Given the description of an element on the screen output the (x, y) to click on. 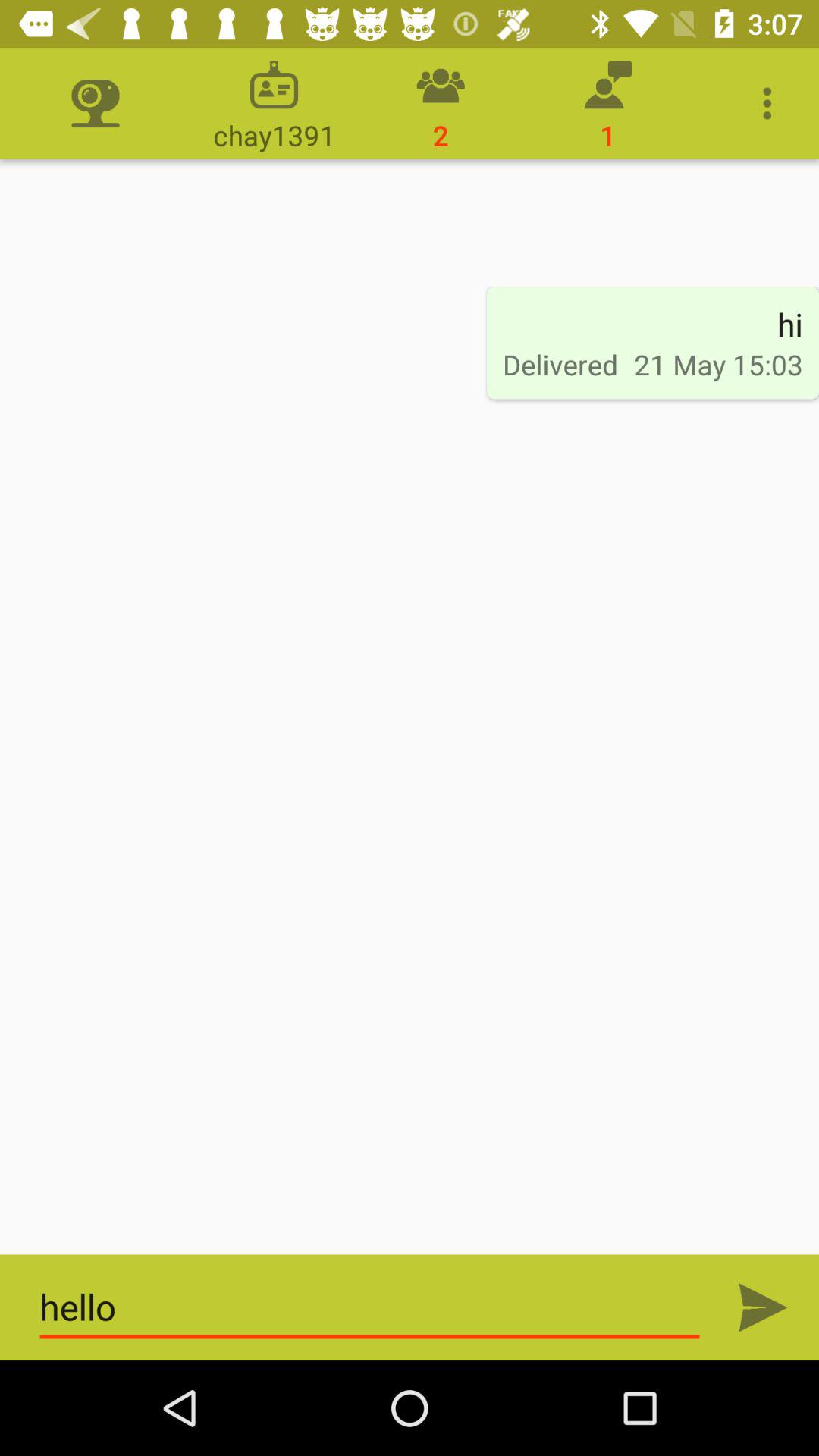
send (763, 1307)
